Given the description of an element on the screen output the (x, y) to click on. 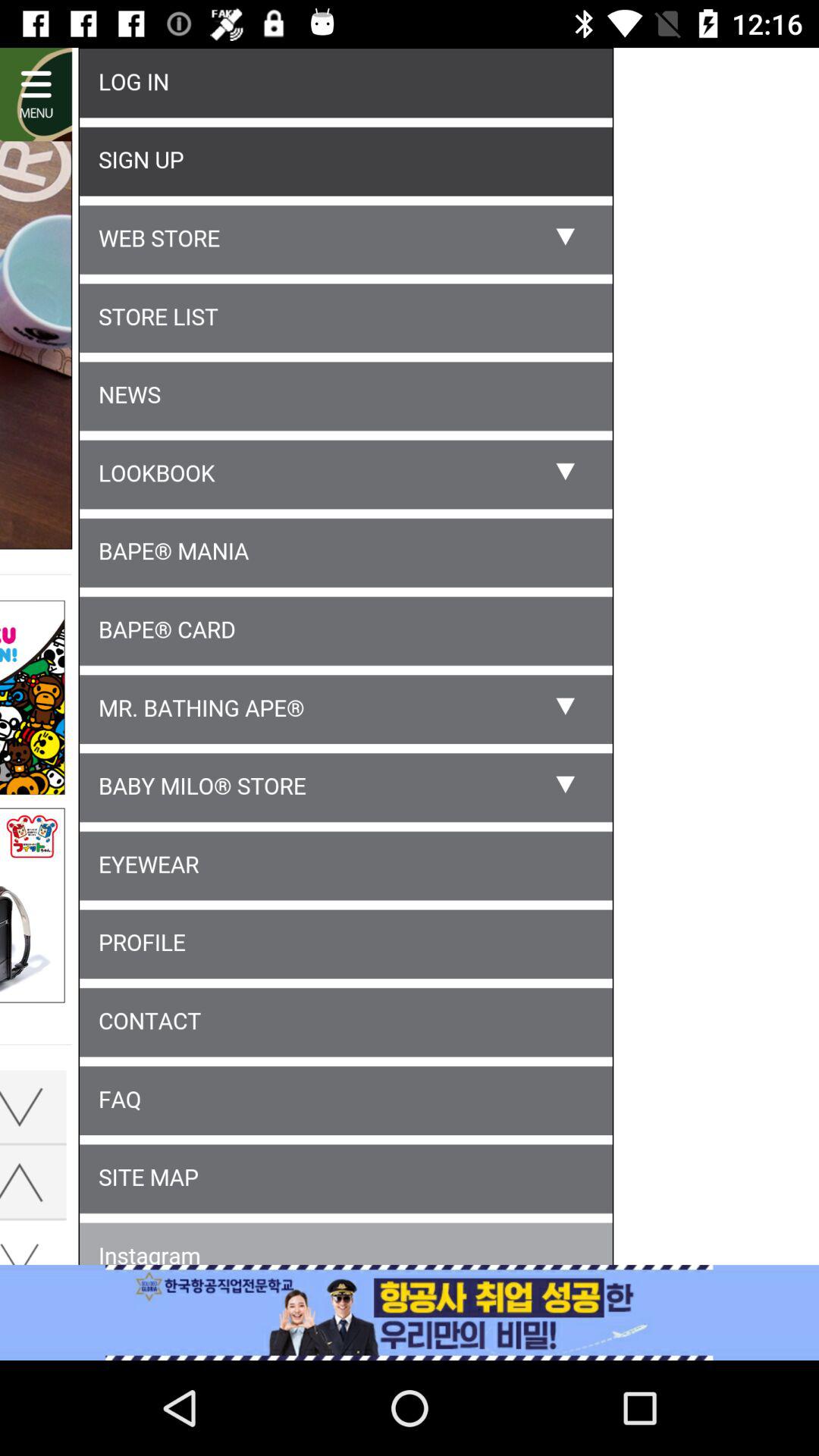
menu (409, 658)
